Given the description of an element on the screen output the (x, y) to click on. 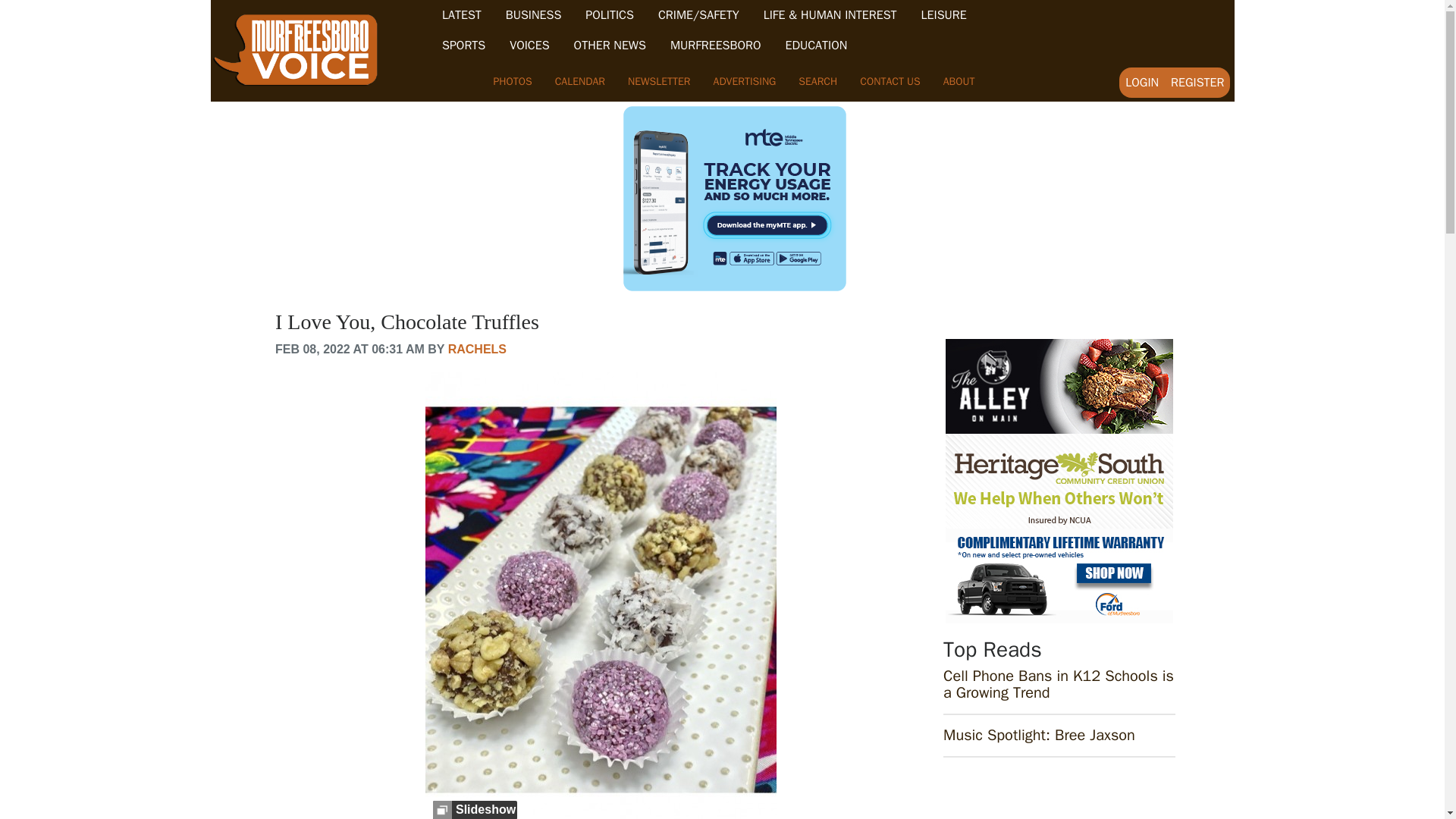
VOICES (528, 45)
NEWSLETTER (658, 81)
EDUCATION (815, 45)
ABOUT (959, 81)
POLITICS (609, 14)
PHOTOS (512, 81)
CONTACT US (890, 81)
OTHER NEWS (609, 45)
CALENDAR (579, 81)
LATEST (461, 14)
